Given the description of an element on the screen output the (x, y) to click on. 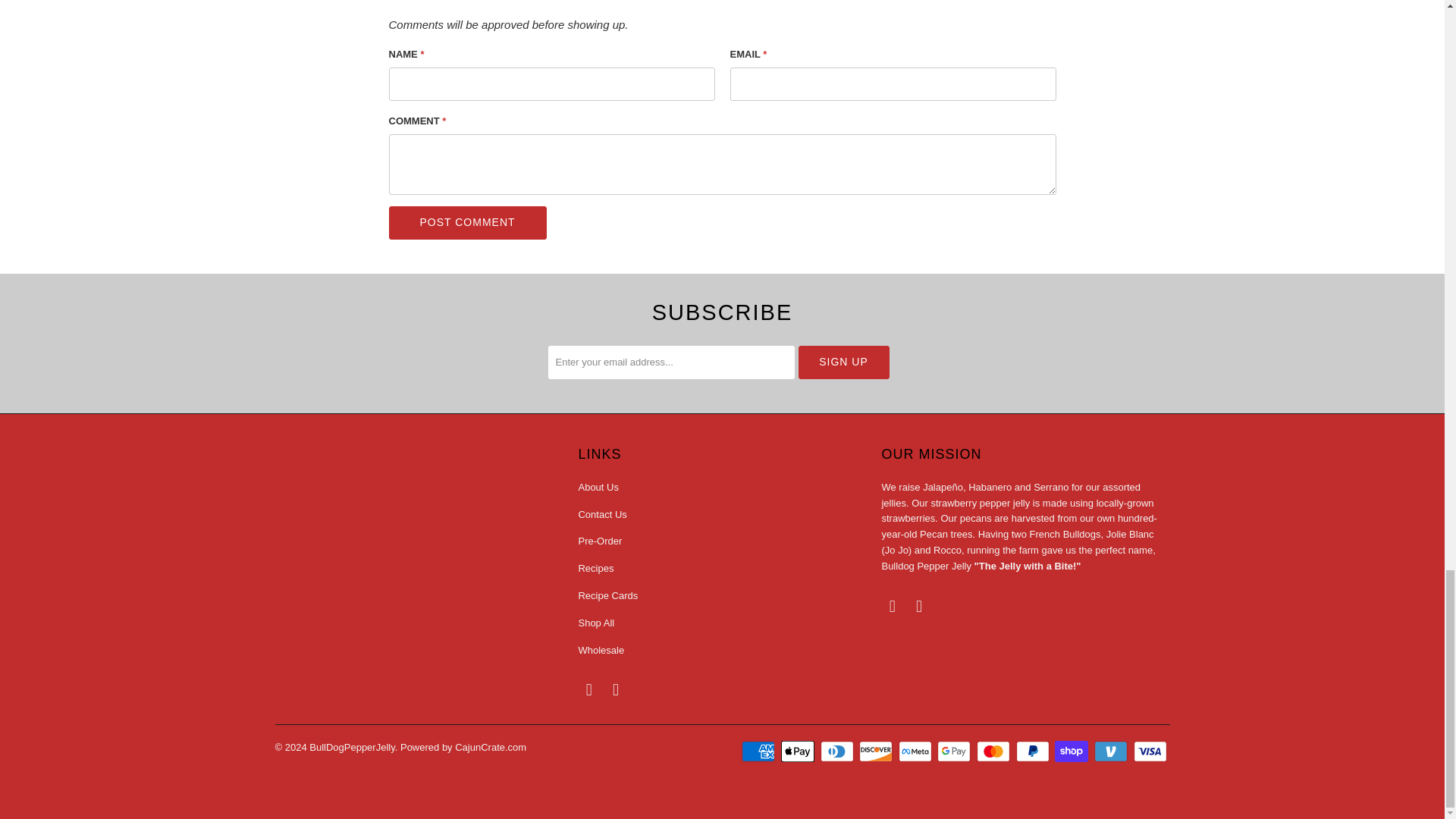
Sign Up (842, 362)
Meta Pay (916, 751)
BullDogPepperJelly on Facebook (588, 689)
Recipe Cards (607, 595)
Sign Up (842, 362)
Google Pay (955, 751)
Contact Us (602, 514)
Post comment (467, 222)
PayPal (1034, 751)
American Express (759, 751)
Apple Pay (798, 751)
Mastercard (994, 751)
Shop Pay (1072, 751)
Pre-Order (599, 541)
Diners Club (839, 751)
